Given the description of an element on the screen output the (x, y) to click on. 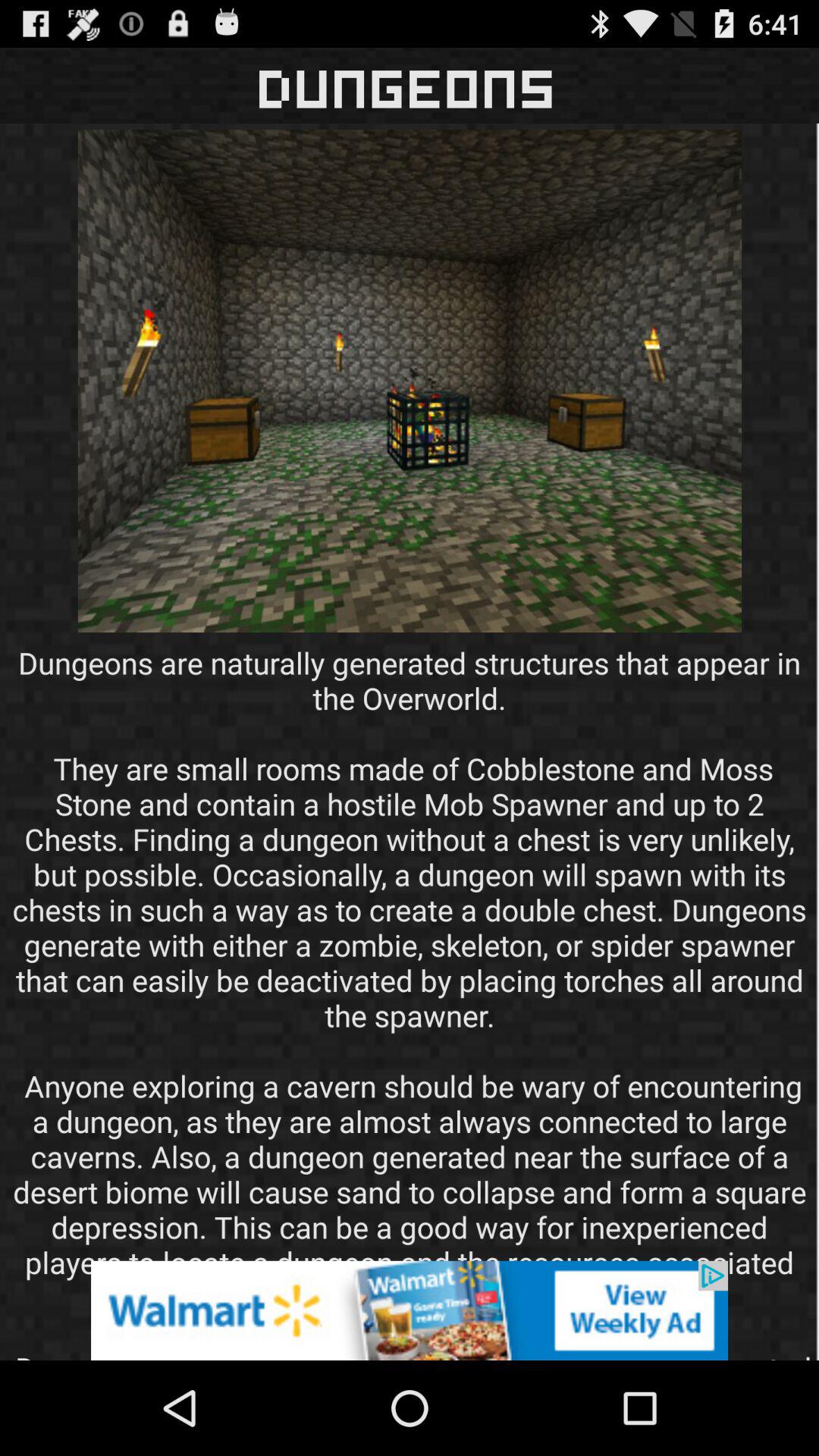
give advertisement information (409, 1310)
